Given the description of an element on the screen output the (x, y) to click on. 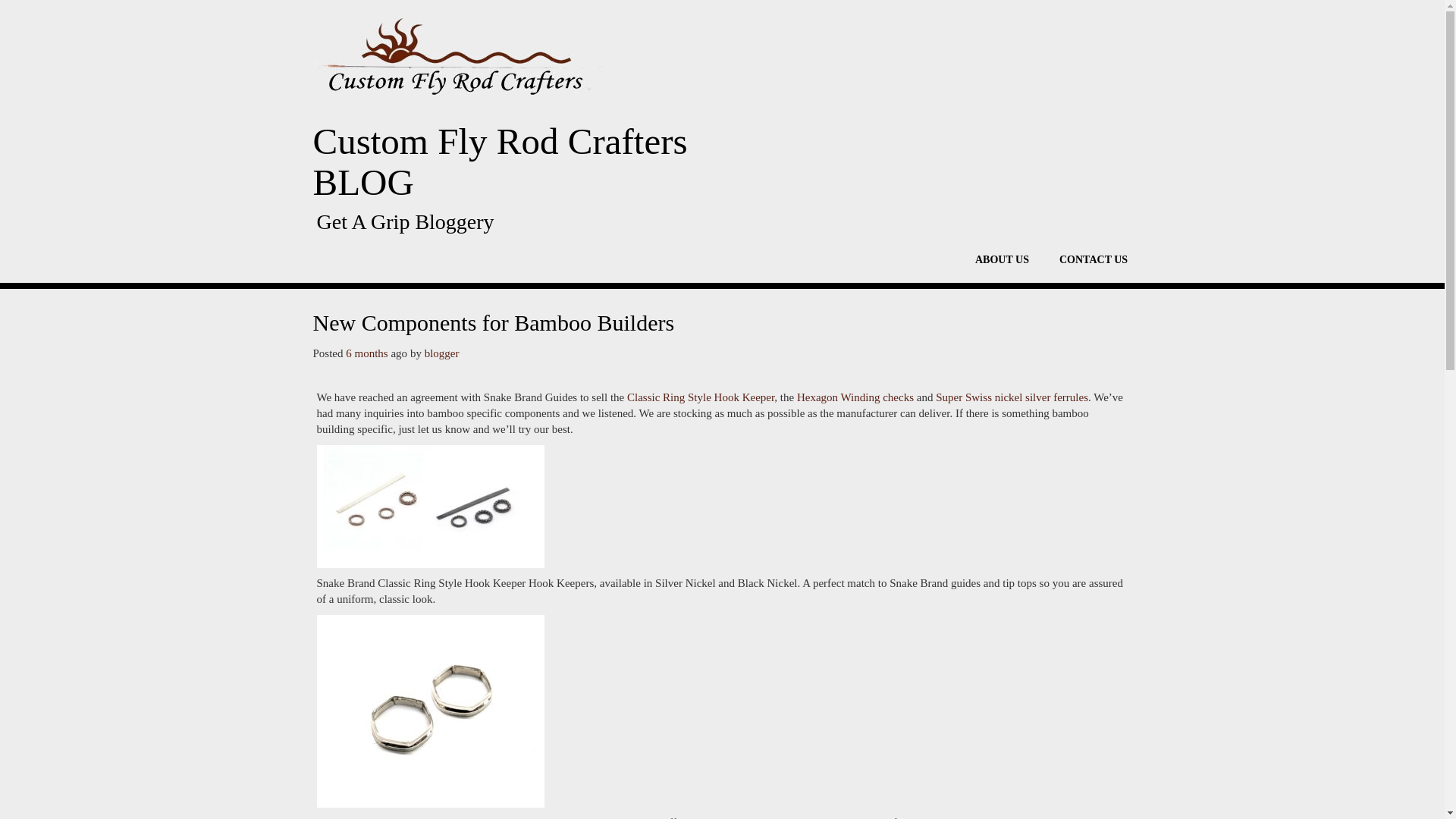
ABOUT US (1001, 259)
Custom Fly Rod Crafters BLOG (523, 162)
blogger (442, 353)
6 months (366, 353)
CONTACT US (1092, 259)
Super Swiss nickel silver ferrules (1011, 397)
Hexagon Winding checks (855, 397)
Classic Ring Style Hook Keeper (700, 397)
